Given the description of an element on the screen output the (x, y) to click on. 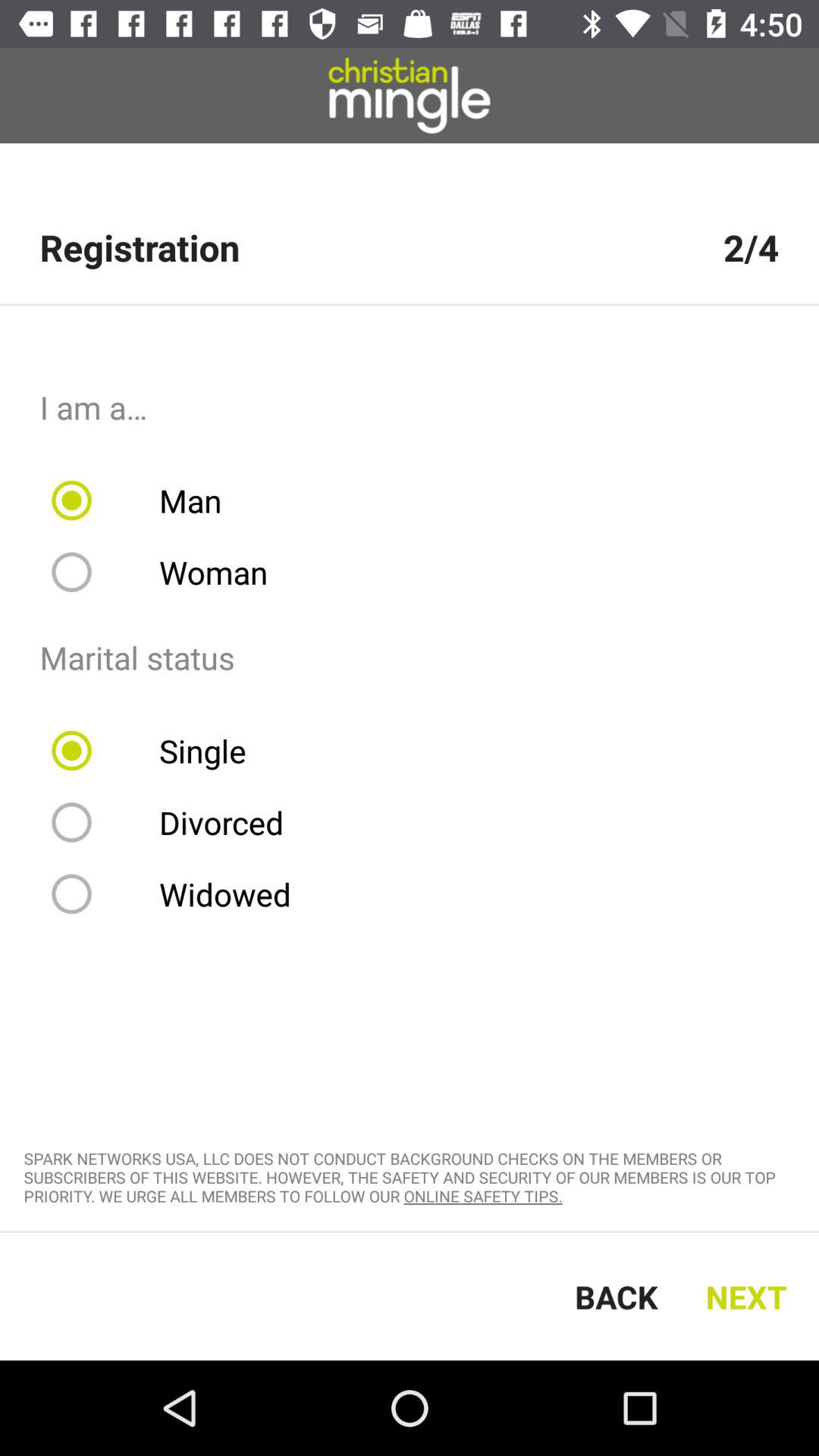
open icon next to the back icon (750, 1296)
